Given the description of an element on the screen output the (x, y) to click on. 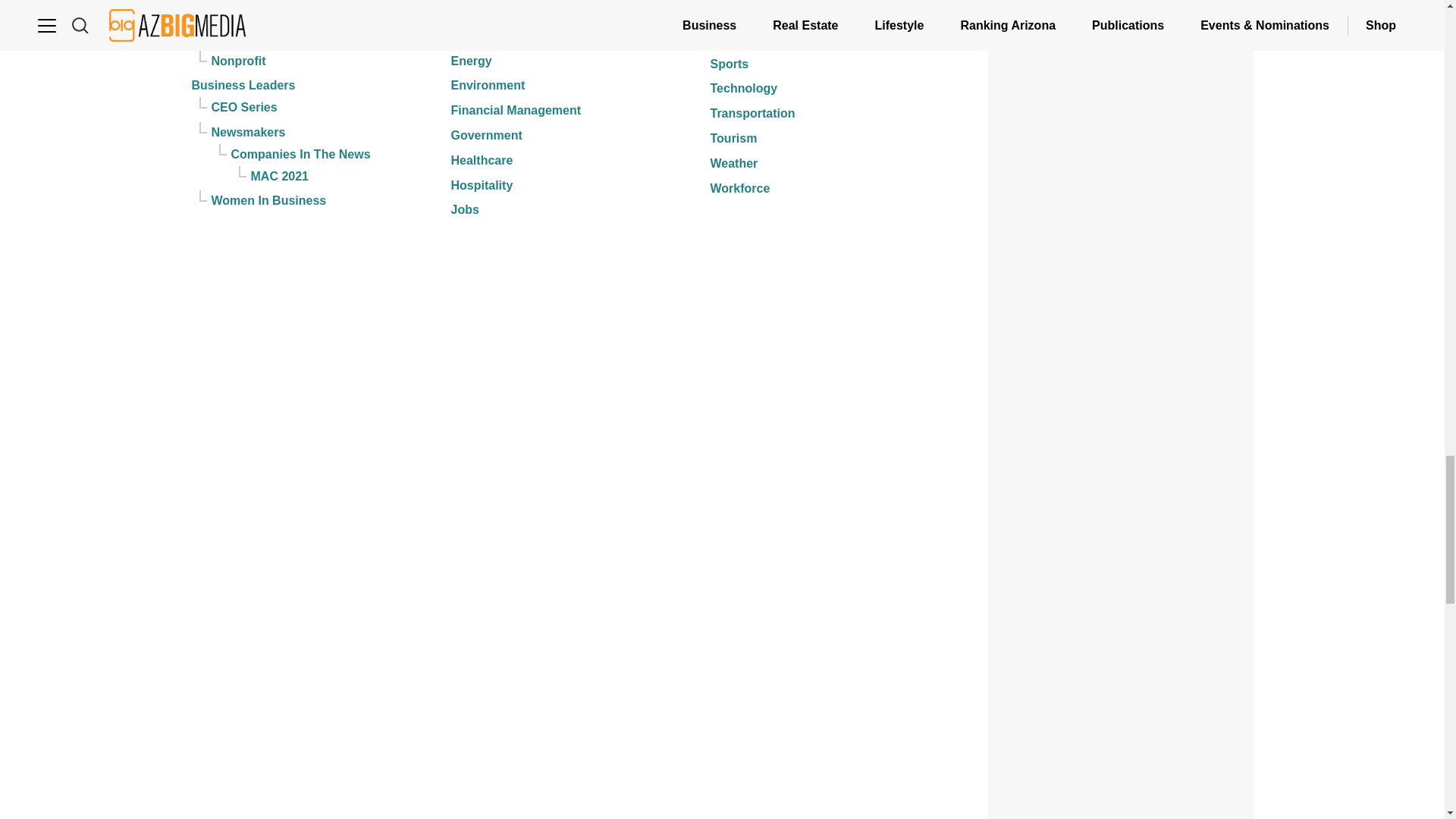
3rd party ad content (1120, 769)
3rd party ad content (1120, 606)
3rd party ad content (1120, 63)
